Given the description of an element on the screen output the (x, y) to click on. 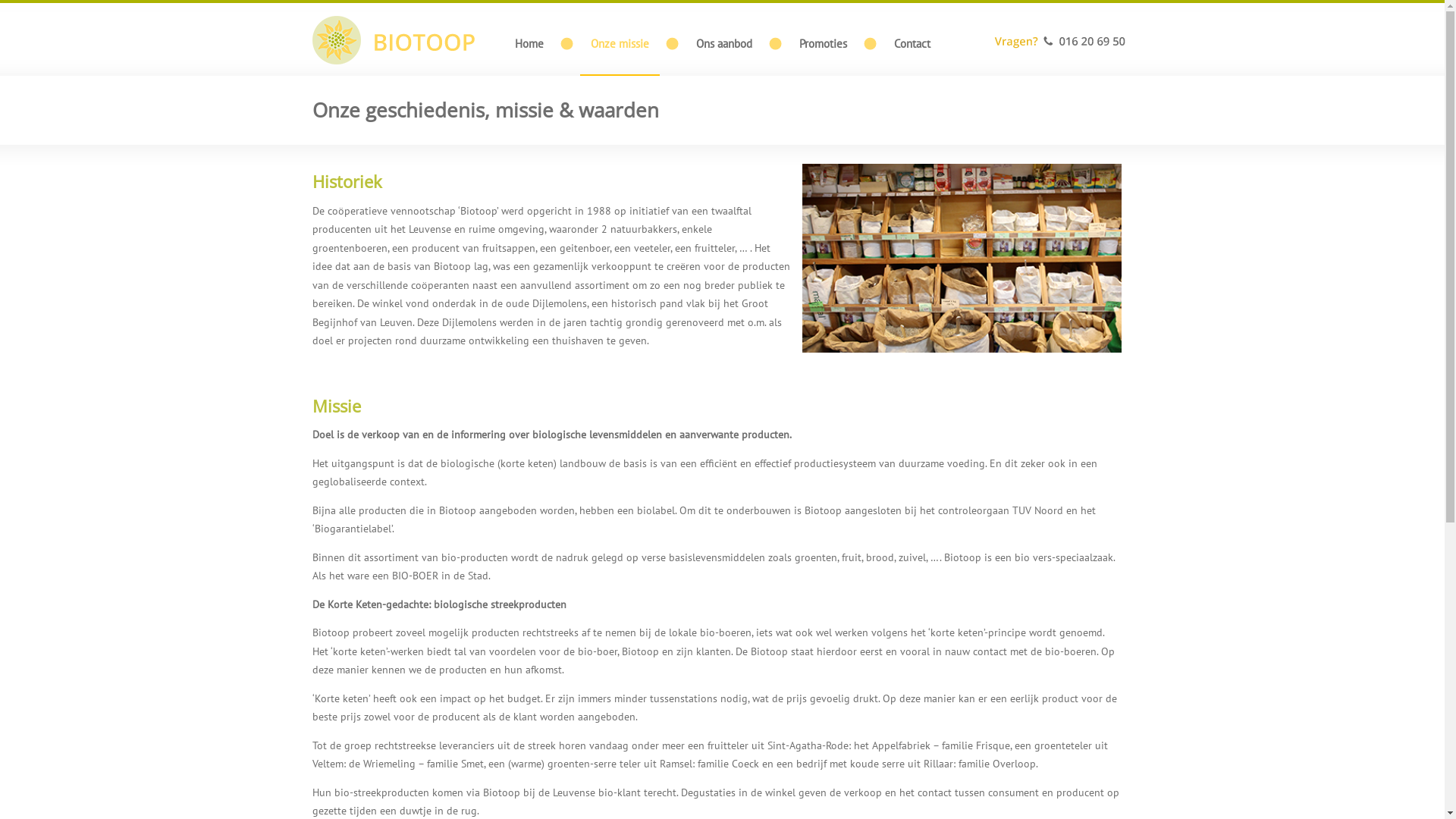
Onze missie Element type: text (618, 43)
Contact Element type: text (911, 43)
Ons aanbod Element type: text (723, 43)
Home Element type: text (528, 43)
Promoties Element type: text (822, 43)
